Given the description of an element on the screen output the (x, y) to click on. 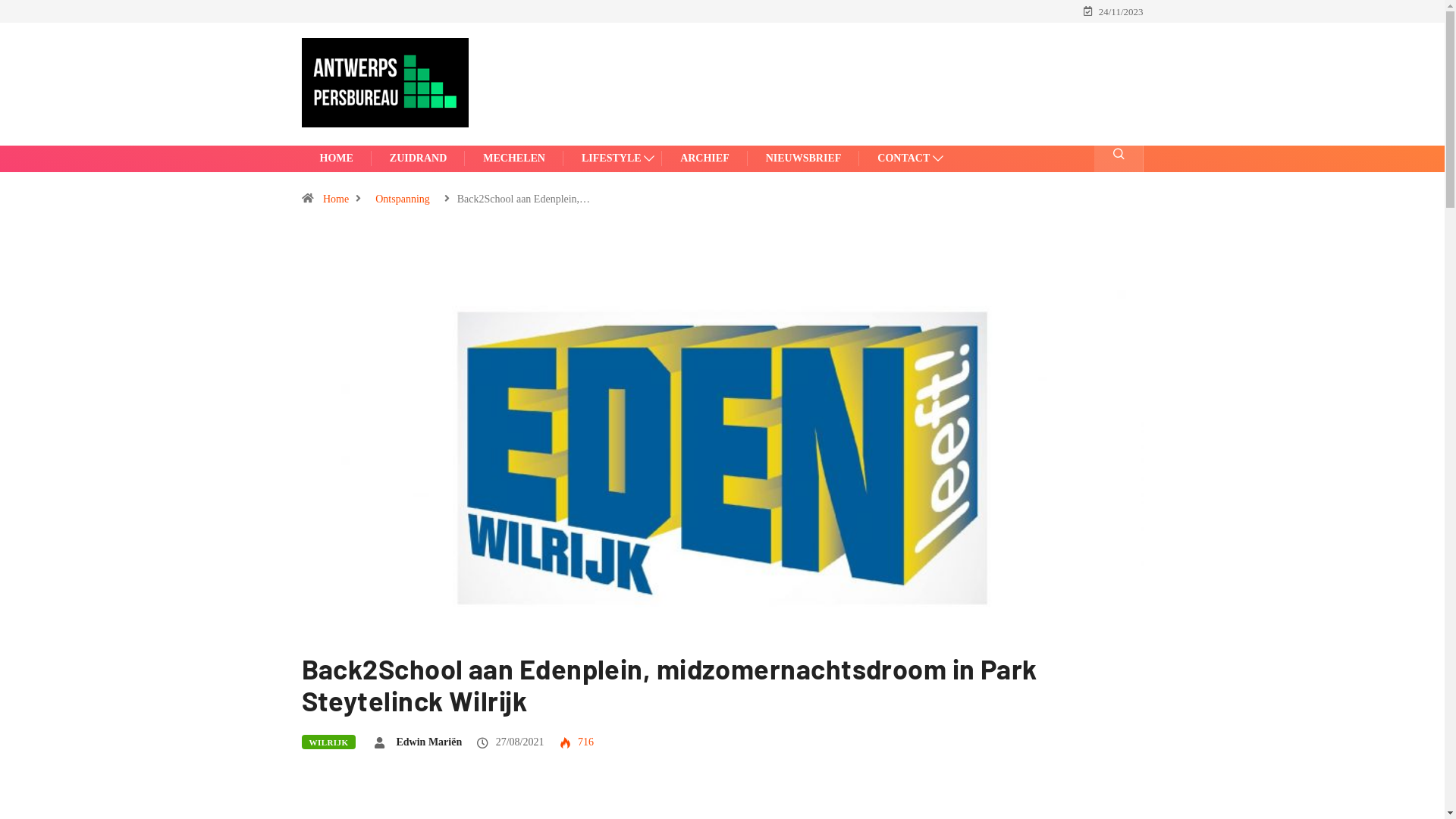
ZUIDRAND Element type: text (417, 158)
Home Element type: text (335, 198)
NIEUWSBRIEF Element type: text (803, 158)
popup modal for search Element type: hover (1117, 158)
CONTACT Element type: text (904, 158)
Advertisement Element type: hover (830, 82)
LIFESTYLE Element type: text (612, 158)
MECHELEN Element type: text (514, 158)
HOME Element type: text (336, 158)
Ontspanning Element type: text (402, 198)
ARCHIEF Element type: text (704, 158)
WILRIJK Element type: text (328, 741)
